Given the description of an element on the screen output the (x, y) to click on. 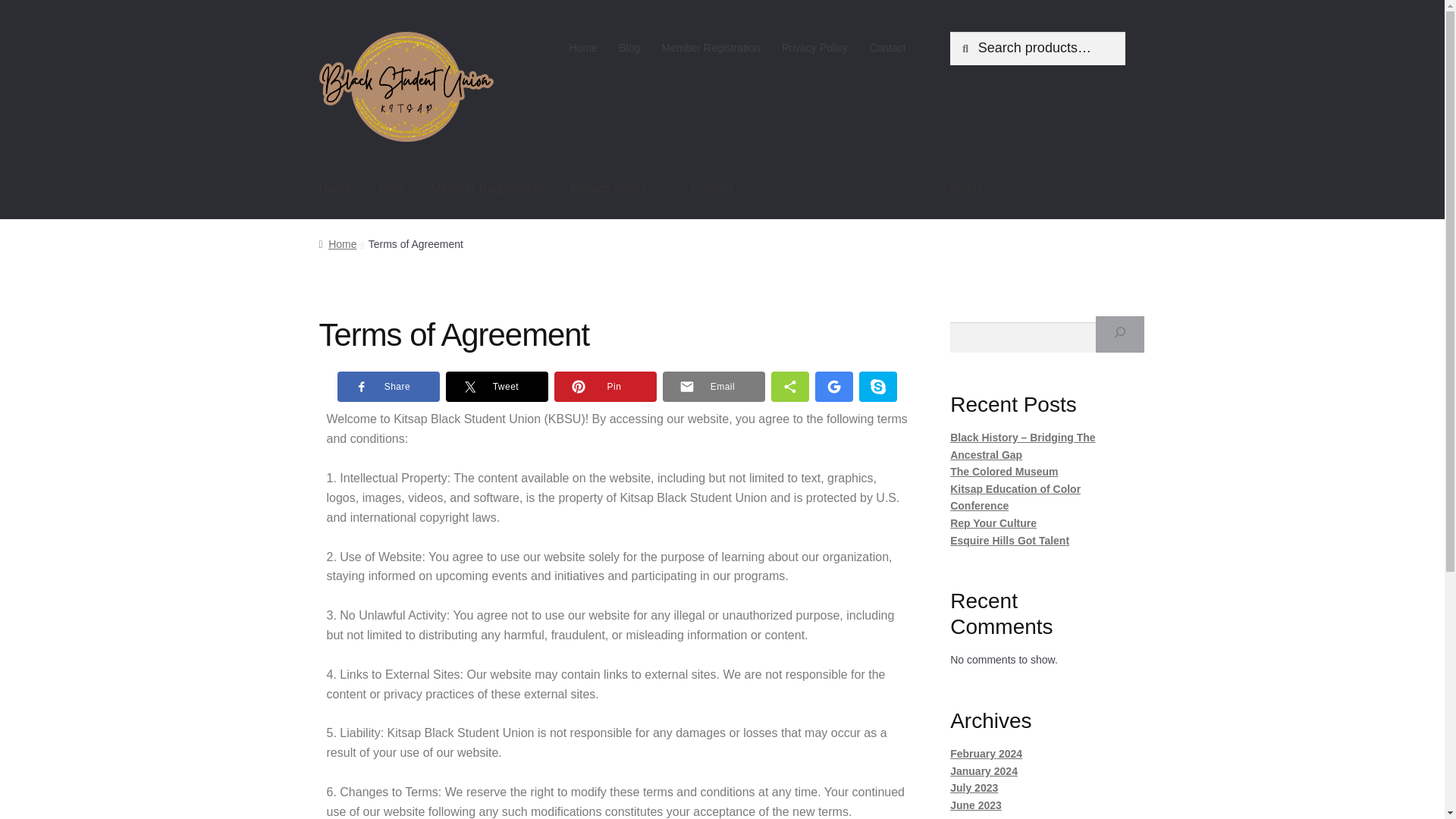
June 2023 (975, 805)
Home (335, 188)
Home (583, 47)
Contact (711, 188)
Blog (629, 47)
Kitsap Education of Color Conference (1015, 497)
Contact (887, 47)
July 2023 (973, 787)
Privacy Policy (617, 188)
